Given the description of an element on the screen output the (x, y) to click on. 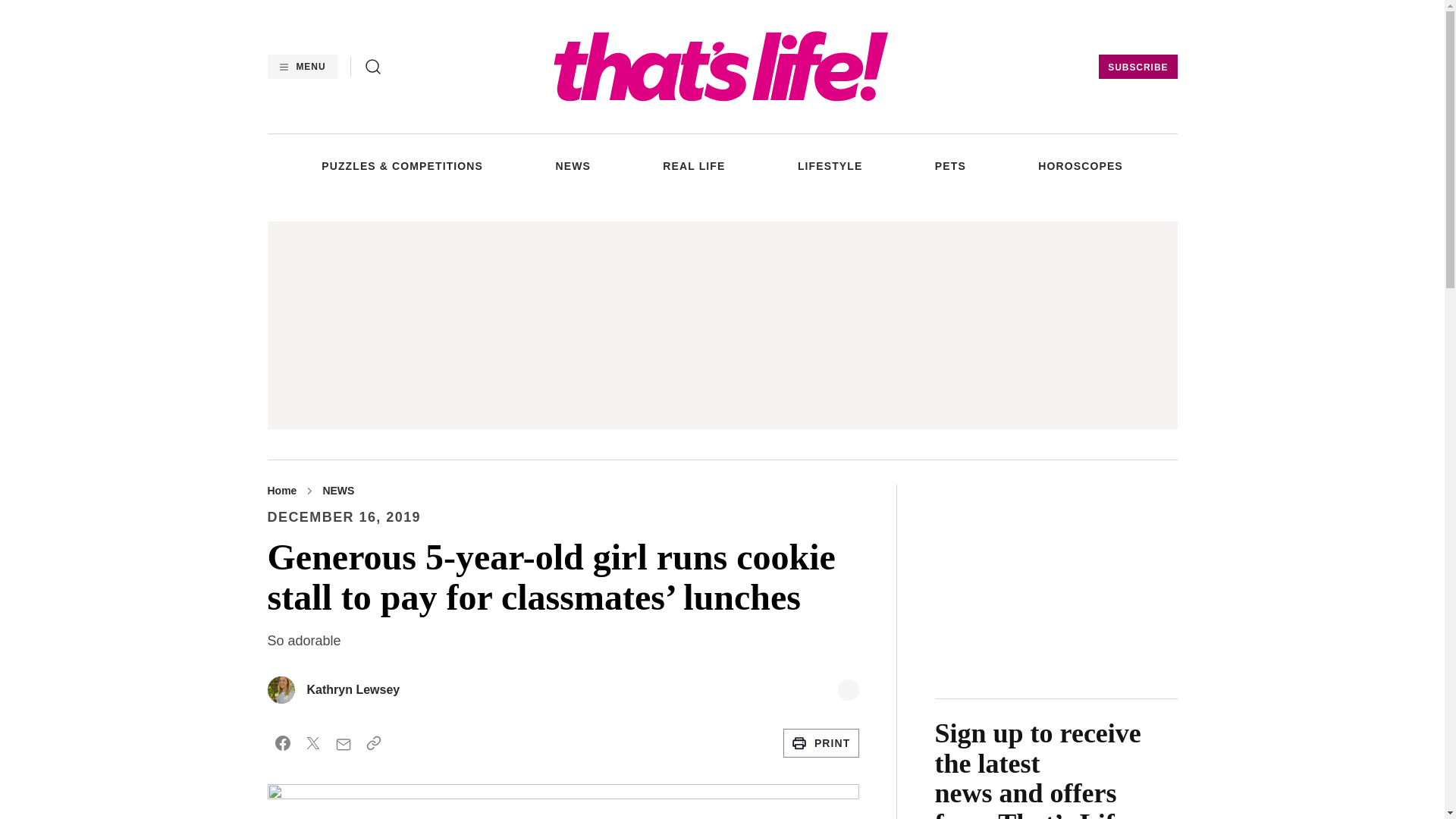
HOROSCOPES (1080, 165)
LIFESTYLE (830, 165)
MENU (301, 66)
PETS (950, 165)
REAL LIFE (693, 165)
SUBSCRIBE (1137, 66)
NEWS (571, 165)
